Given the description of an element on the screen output the (x, y) to click on. 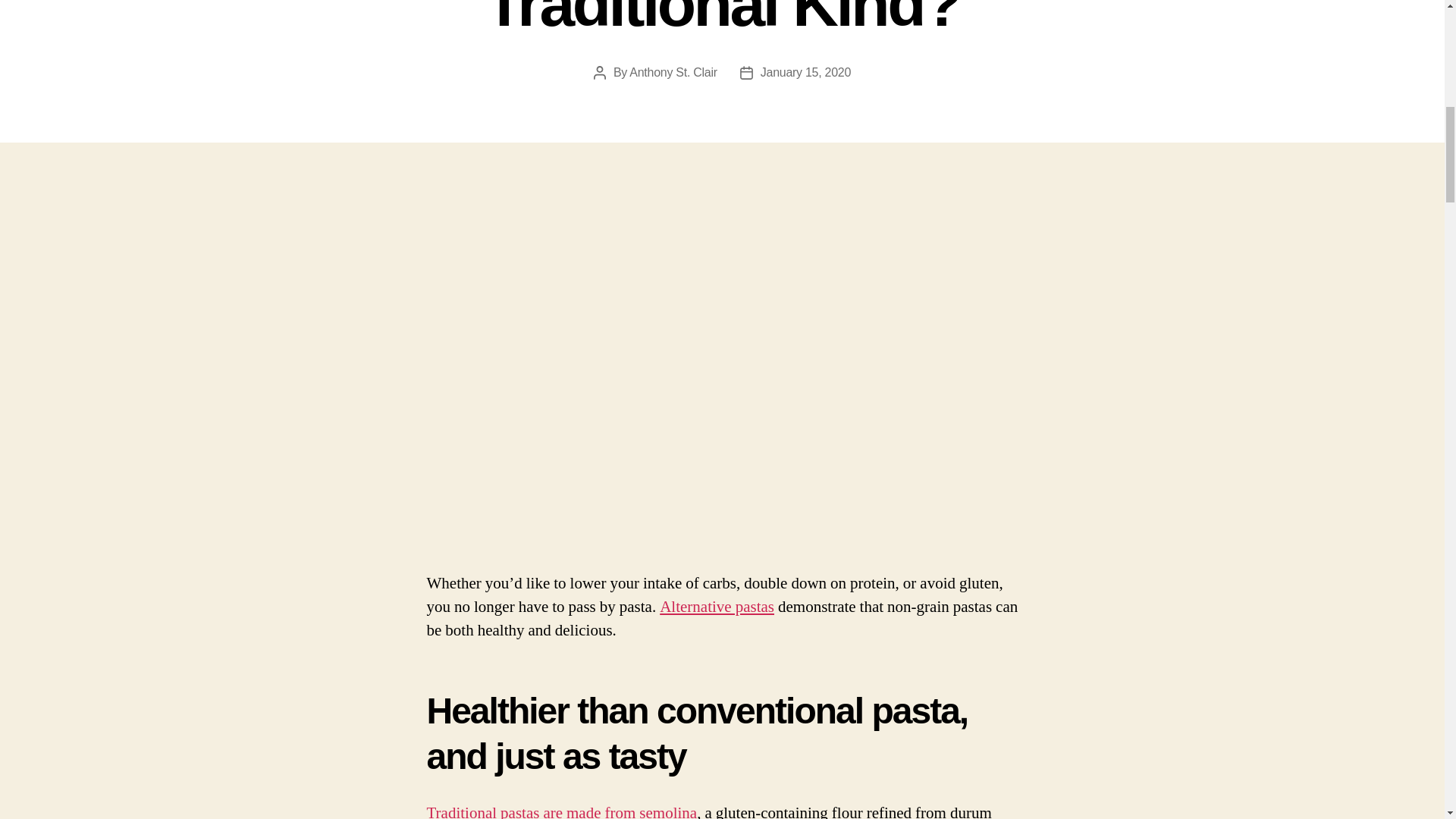
Alternative pastas (716, 607)
Anthony St. Clair (672, 72)
Traditional pastas are made from semolina (561, 811)
January 15, 2020 (805, 72)
